Given the description of an element on the screen output the (x, y) to click on. 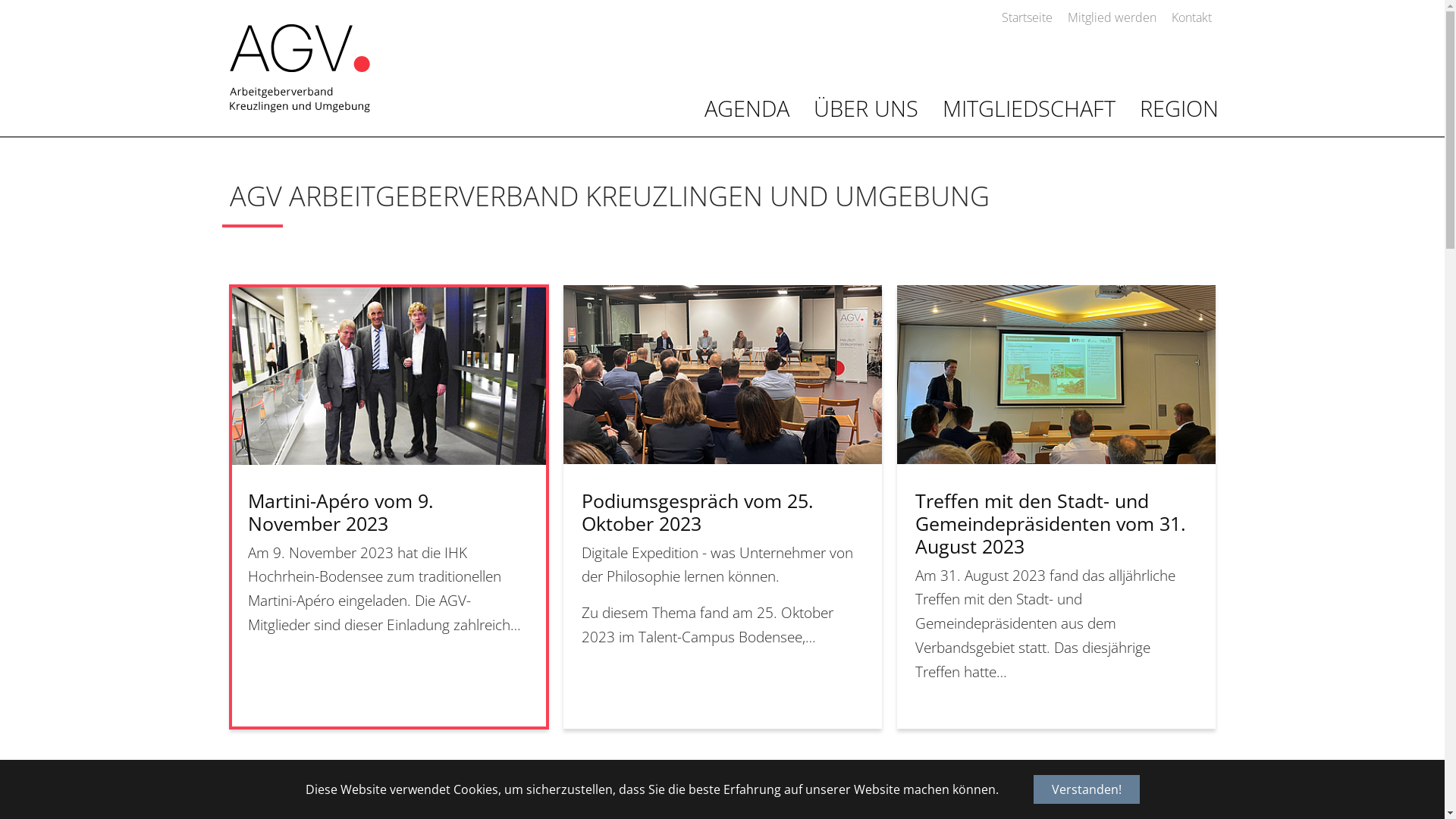
MITGLIEDSCHAFT Element type: text (1027, 108)
REGION Element type: text (1178, 108)
Mitglied werden Element type: text (1111, 17)
AGENDA Element type: text (745, 108)
Startseite Element type: text (1026, 17)
IHK-Thurgau Element type: hover (299, 68)
Verstanden! Element type: text (1085, 789)
Kontakt Element type: text (1190, 17)
